Given the description of an element on the screen output the (x, y) to click on. 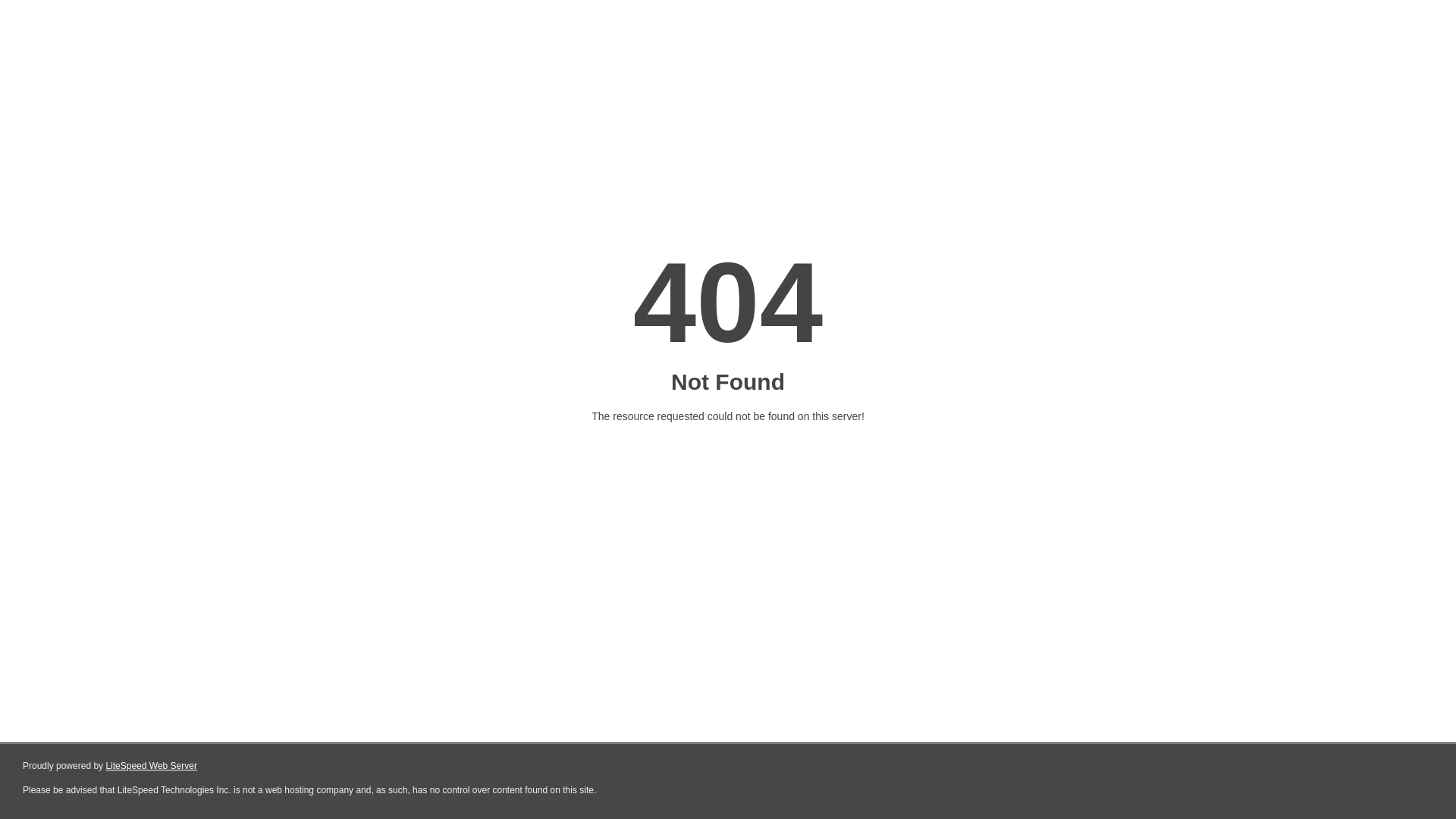
LiteSpeed Web Server Element type: text (151, 765)
